Given the description of an element on the screen output the (x, y) to click on. 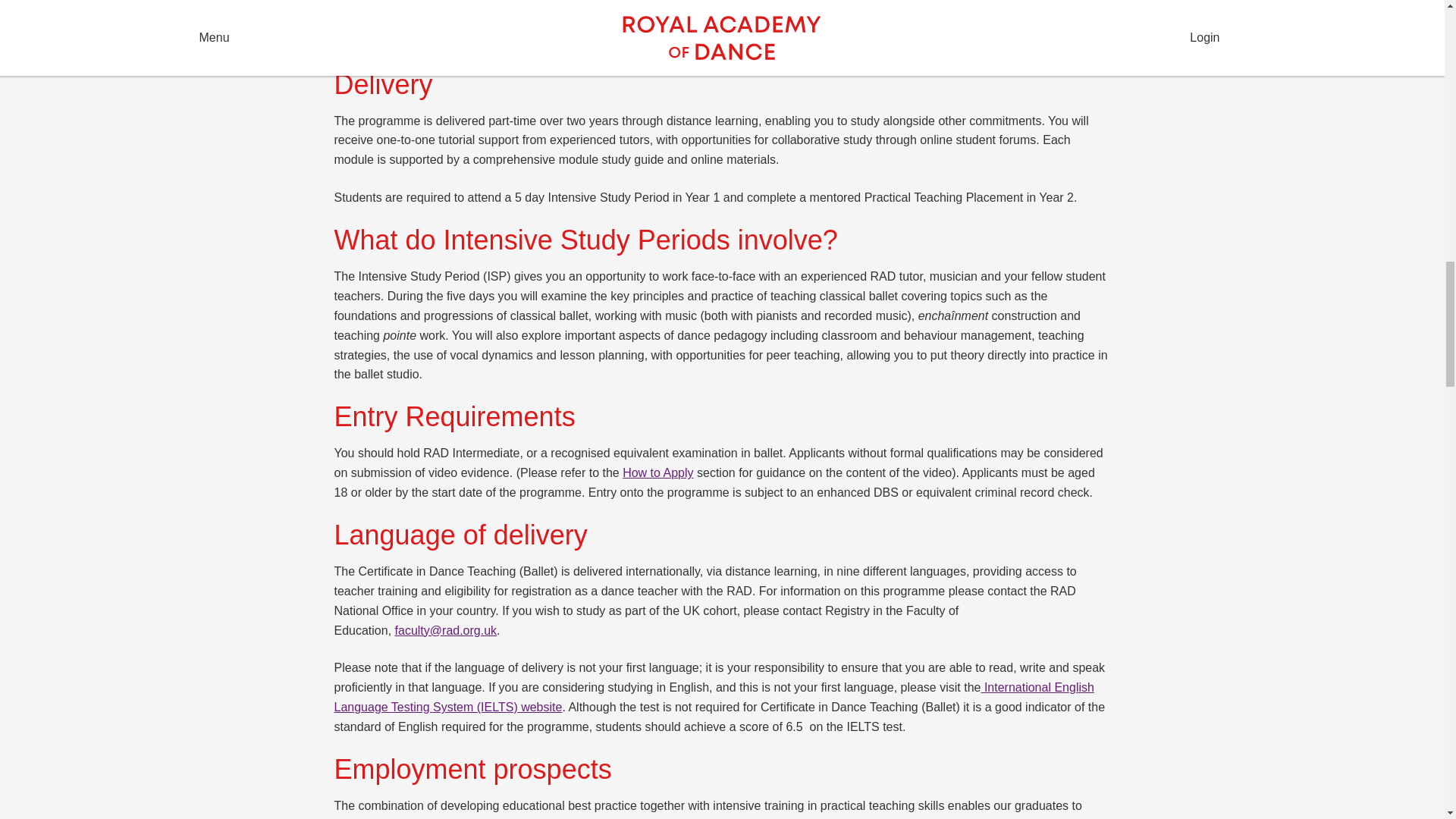
How to Apply (658, 472)
